Given the description of an element on the screen output the (x, y) to click on. 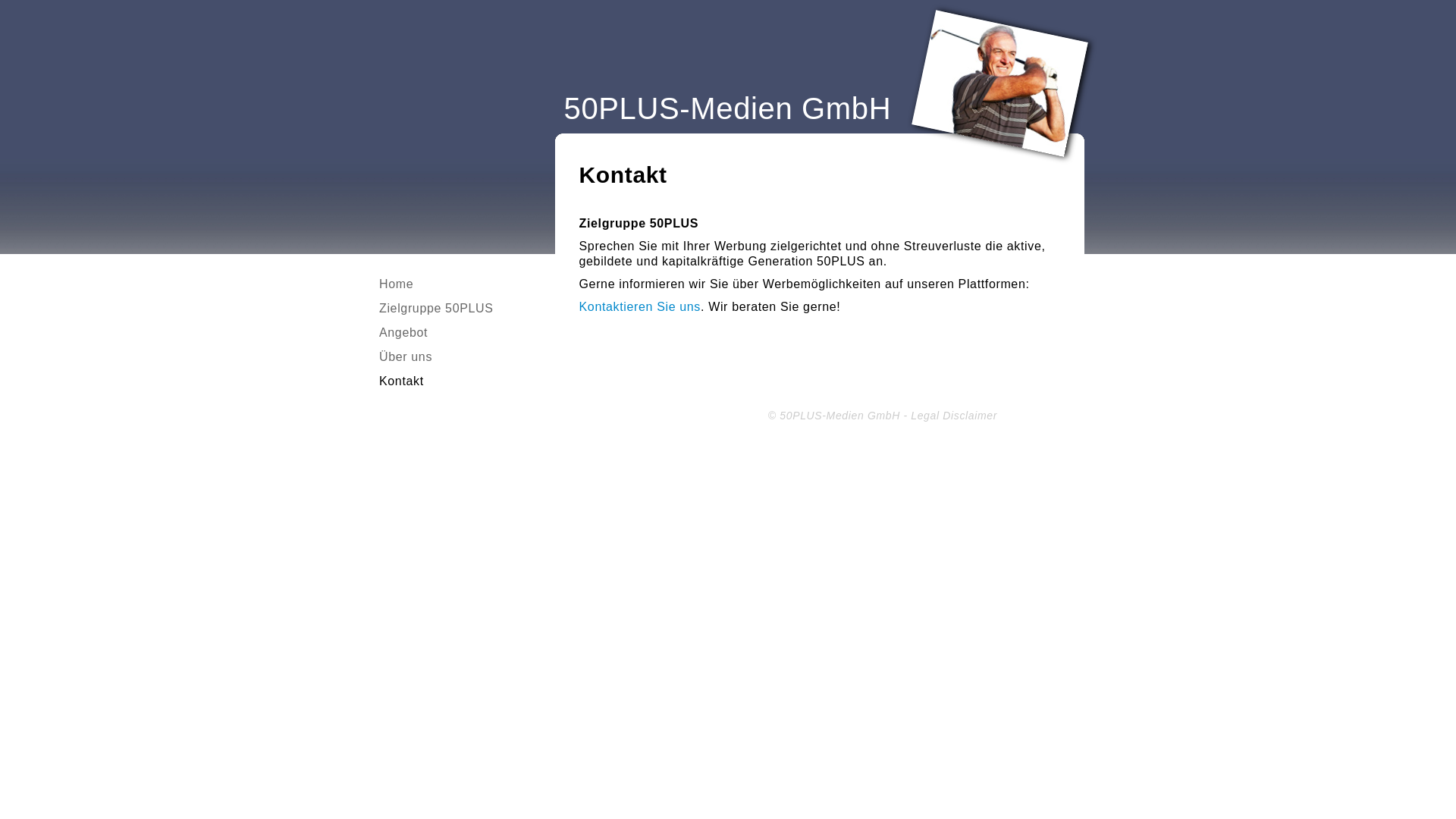
50PLUS-Medien GmbH Element type: text (727, 108)
Kontakt Element type: text (401, 380)
Kontaktieren Sie uns Element type: text (639, 306)
Zielgruppe 50PLUS Element type: text (436, 307)
Home Element type: text (396, 283)
Angebot Element type: text (403, 332)
